Given the description of an element on the screen output the (x, y) to click on. 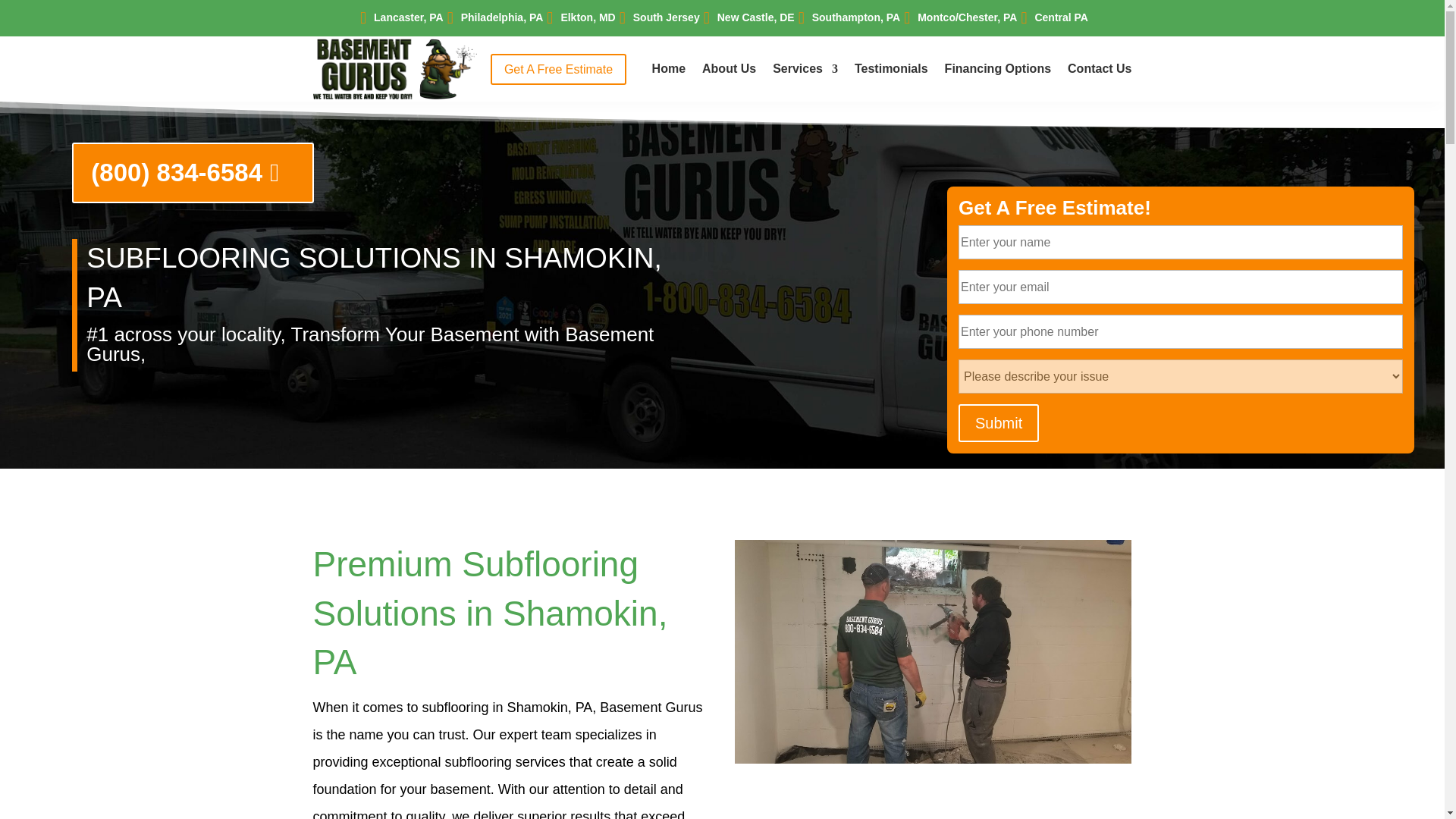
Services (805, 71)
Testimonials (891, 71)
Get A Free Estimate (558, 69)
Submit (998, 423)
Contact Us (1099, 71)
About Us (728, 71)
Financing Options (997, 71)
Home (668, 71)
